Given the description of an element on the screen output the (x, y) to click on. 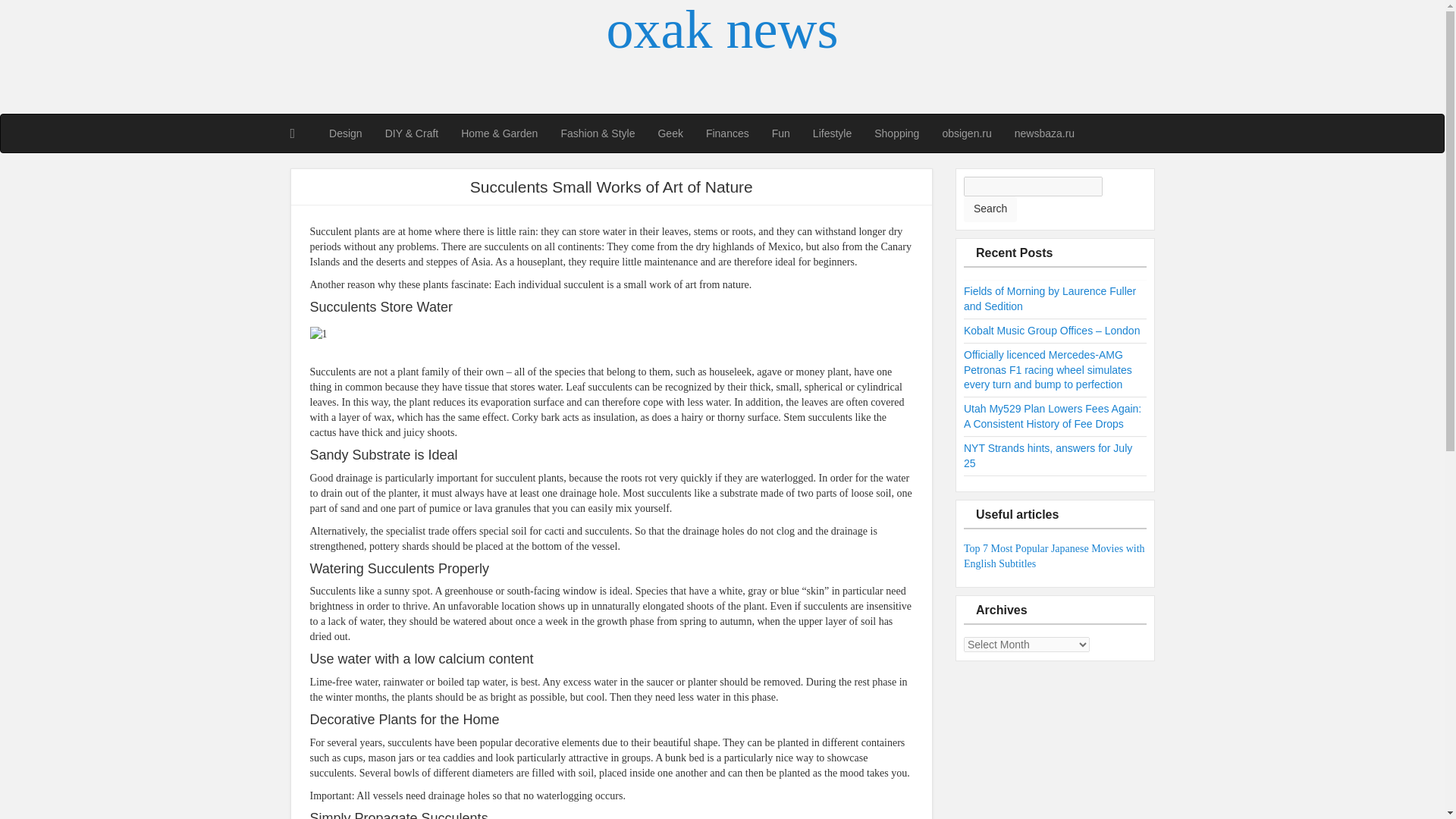
newsbaza.ru (1044, 133)
Search (989, 208)
obsigen.ru (966, 133)
Geek (670, 133)
Fun (781, 133)
Search (989, 208)
Finances (727, 133)
Fun (781, 133)
Shopping (896, 133)
newsbaza.ru (1044, 133)
Geek (670, 133)
Lifestyle (832, 133)
Design (345, 133)
Fields of Morning by Laurence Fuller and Sedition (1049, 298)
